Given the description of an element on the screen output the (x, y) to click on. 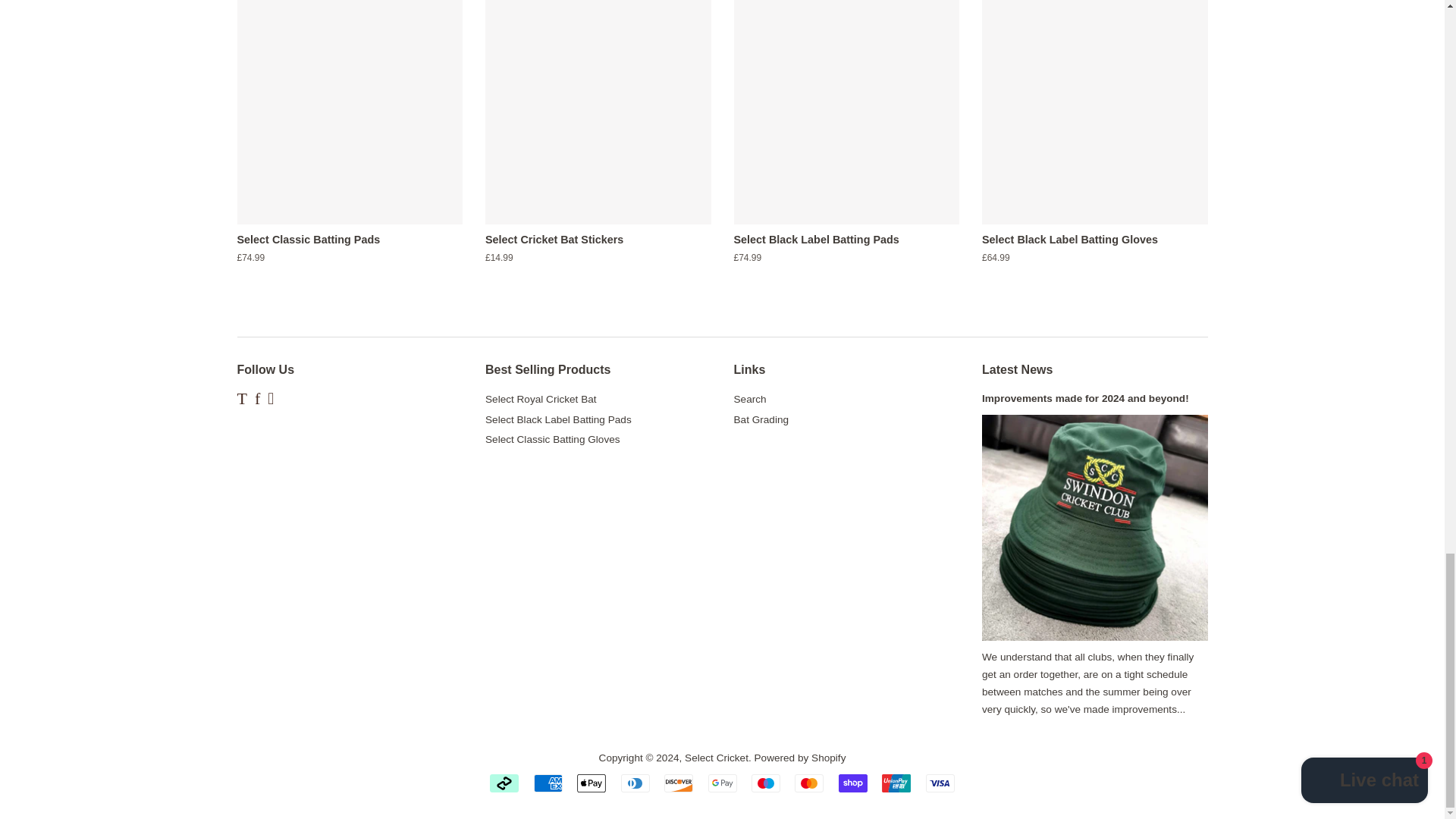
Visa (940, 782)
Maestro (765, 782)
Apple Pay (590, 782)
Google Pay (721, 782)
Diners Club (635, 782)
Union Pay (896, 782)
Discover (678, 782)
Mastercard (809, 782)
American Express (548, 782)
Clearpay (503, 782)
Shop Pay (852, 782)
